Given the description of an element on the screen output the (x, y) to click on. 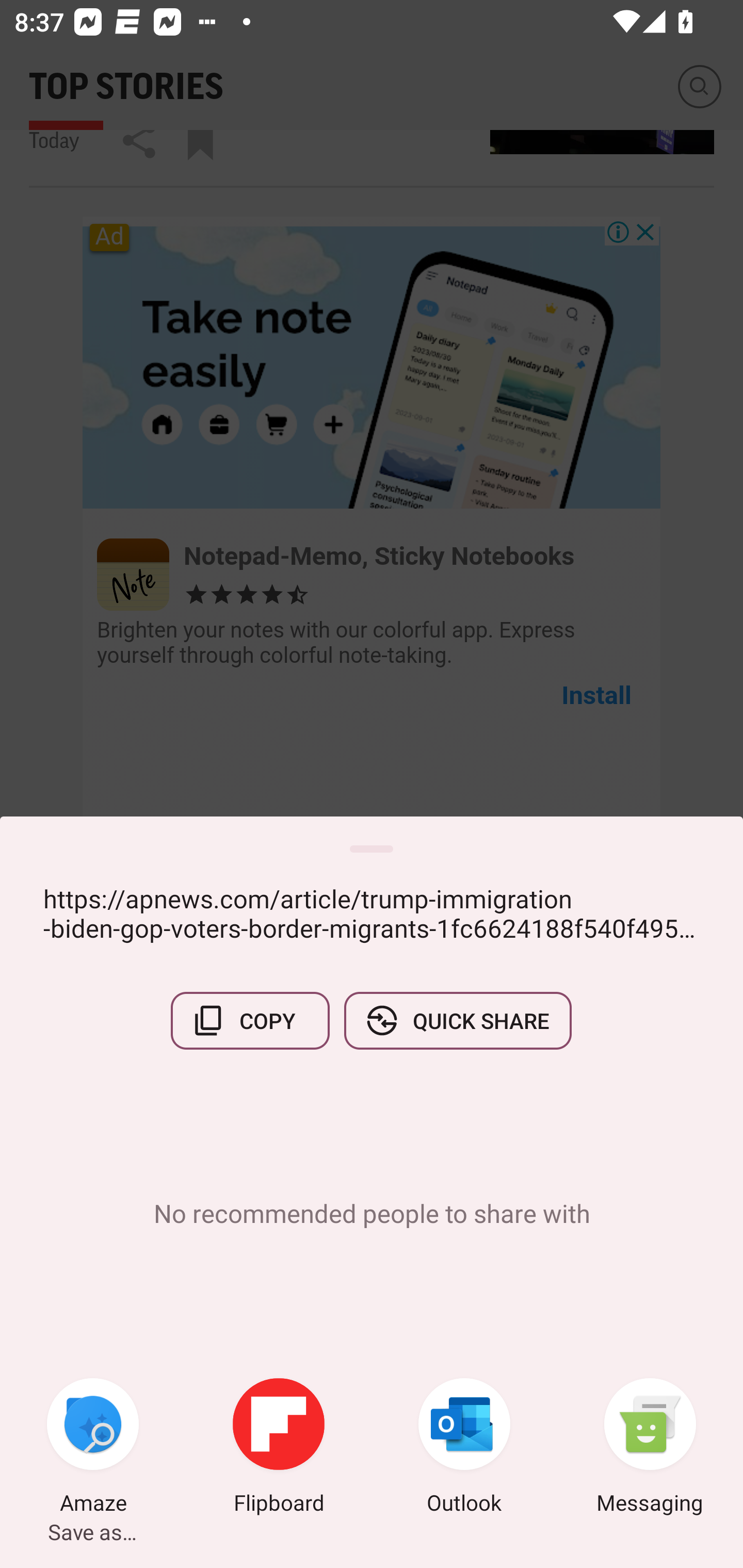
COPY (249, 1020)
QUICK SHARE (457, 1020)
Amaze Save as… (92, 1448)
Flipboard (278, 1448)
Outlook (464, 1448)
Messaging (650, 1448)
